Given the description of an element on the screen output the (x, y) to click on. 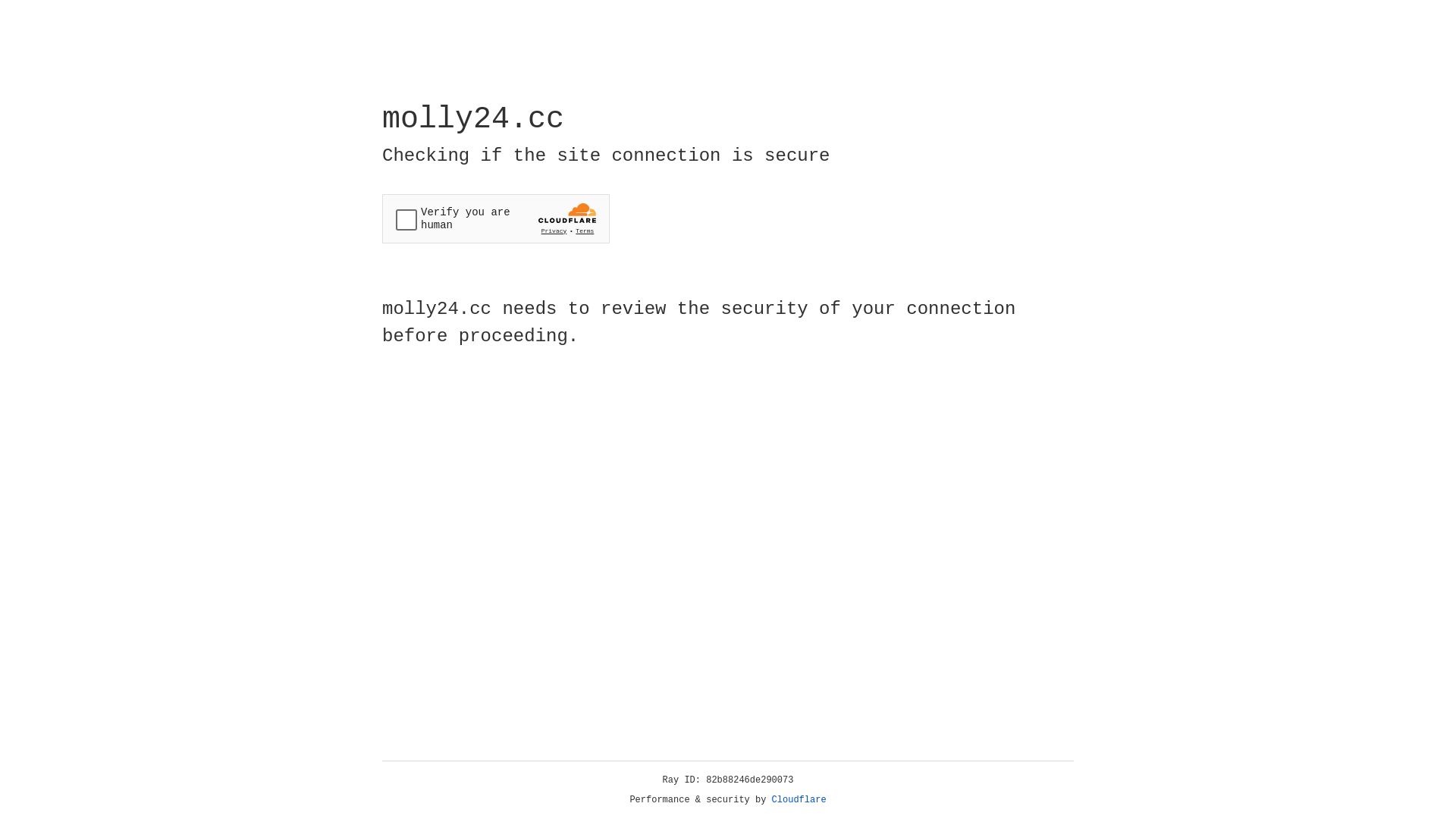
Widget containing a Cloudflare security challenge Element type: hover (495, 218)
Cloudflare Element type: text (798, 799)
